Given the description of an element on the screen output the (x, y) to click on. 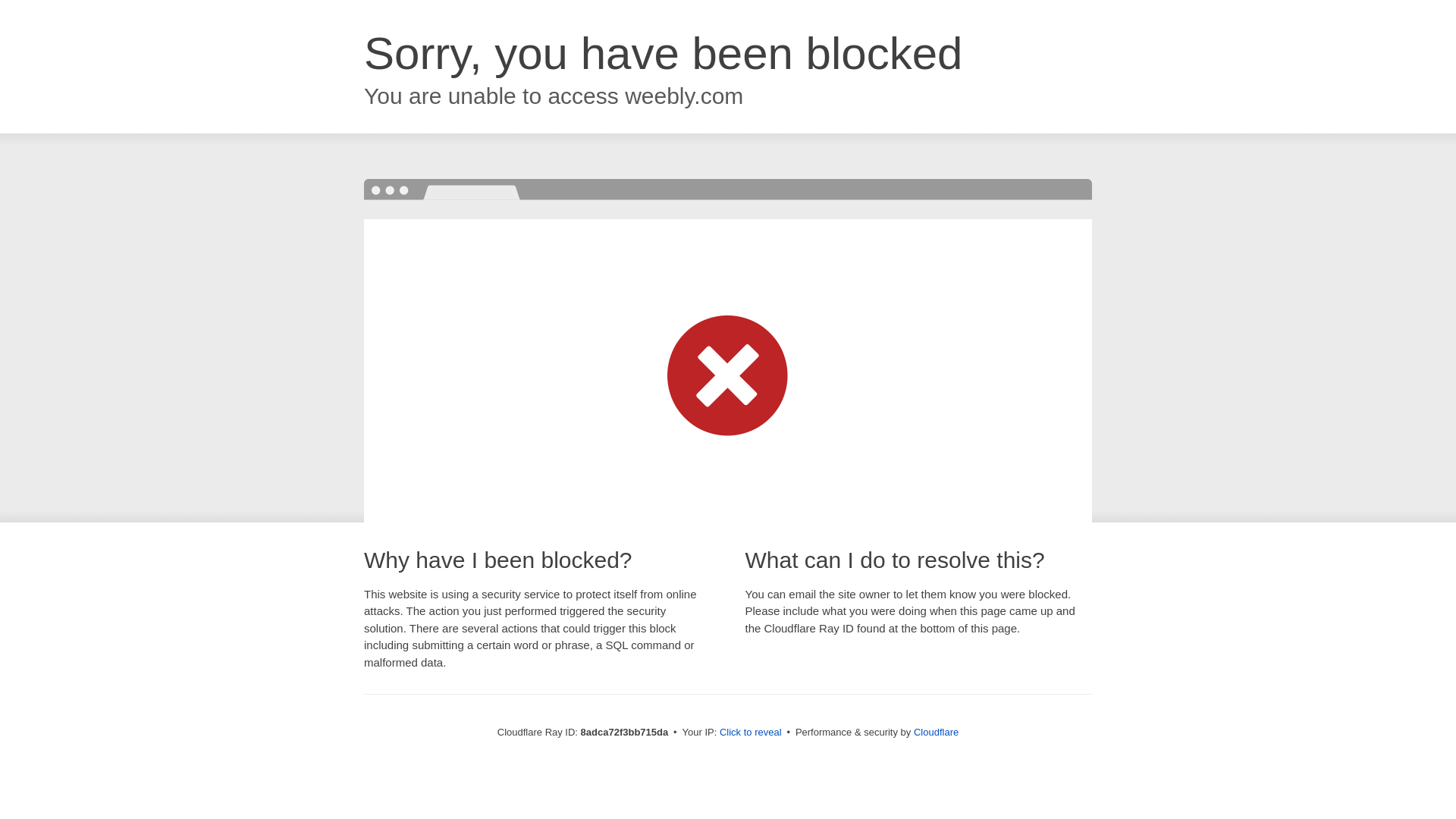
Cloudflare (936, 731)
Click to reveal (750, 732)
